Given the description of an element on the screen output the (x, y) to click on. 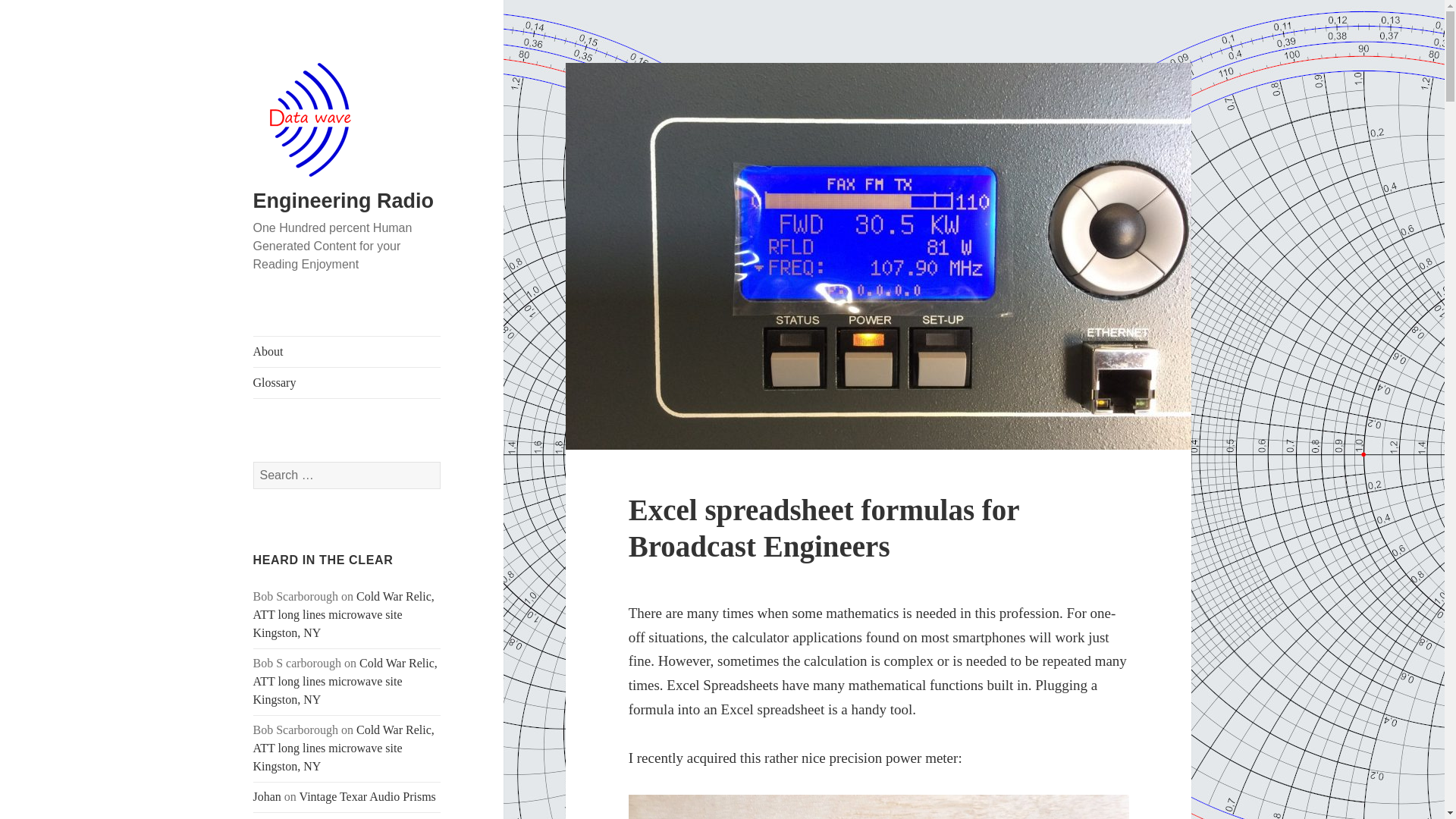
About (347, 351)
Engineering Radio (343, 200)
Cold War Relic, ATT long lines microwave site Kingston, NY (343, 614)
Glossary (347, 382)
Cold War Relic, ATT long lines microwave site Kingston, NY (343, 748)
Johan (267, 796)
Vintage Texar Audio Prisms (367, 796)
Cold War Relic, ATT long lines microwave site Kingston, NY (345, 680)
